Given the description of an element on the screen output the (x, y) to click on. 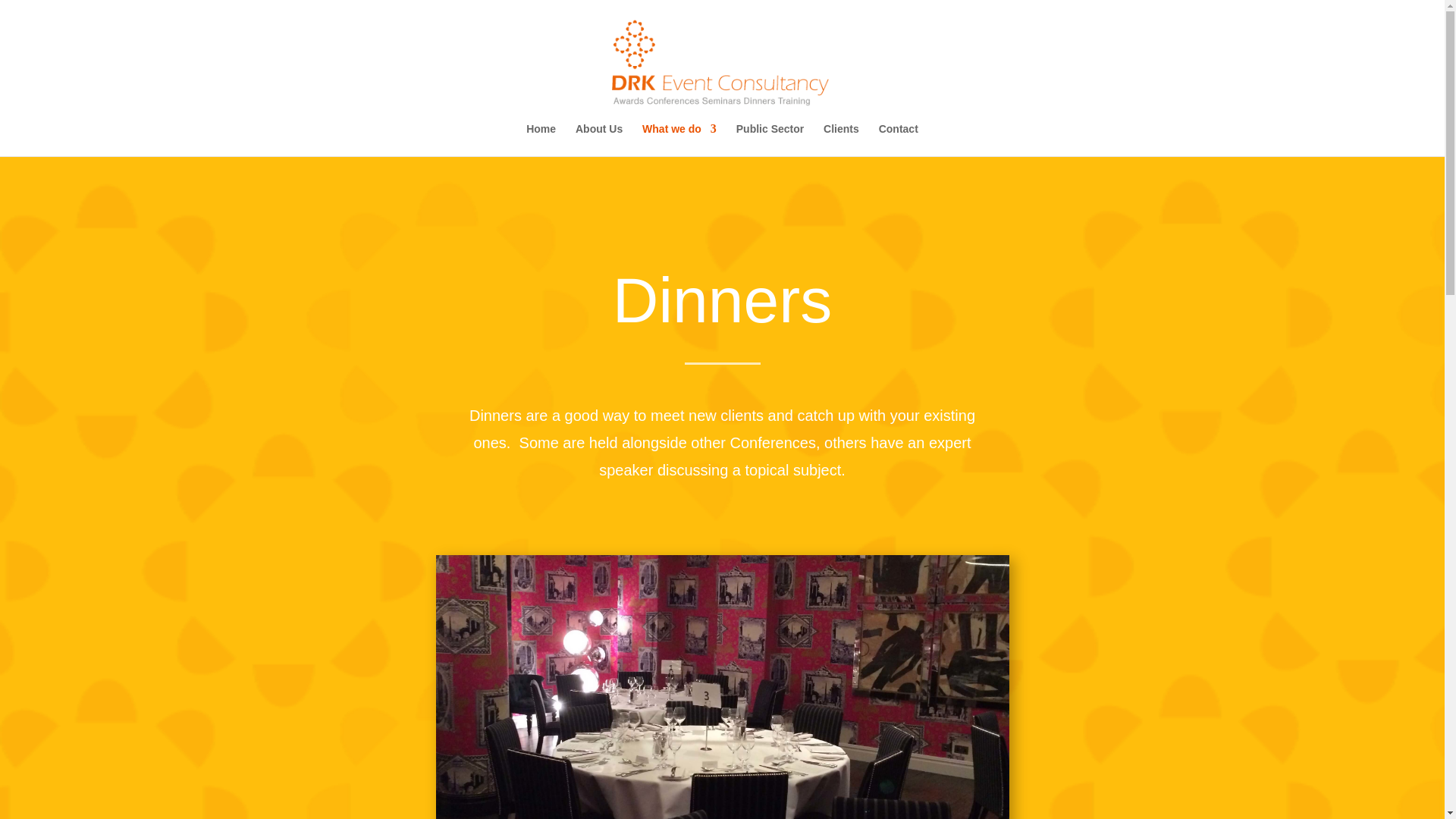
Public Sector (769, 139)
What we do (679, 139)
Clients (841, 139)
About Us (599, 139)
Contact (898, 139)
Home (540, 139)
